Given the description of an element on the screen output the (x, y) to click on. 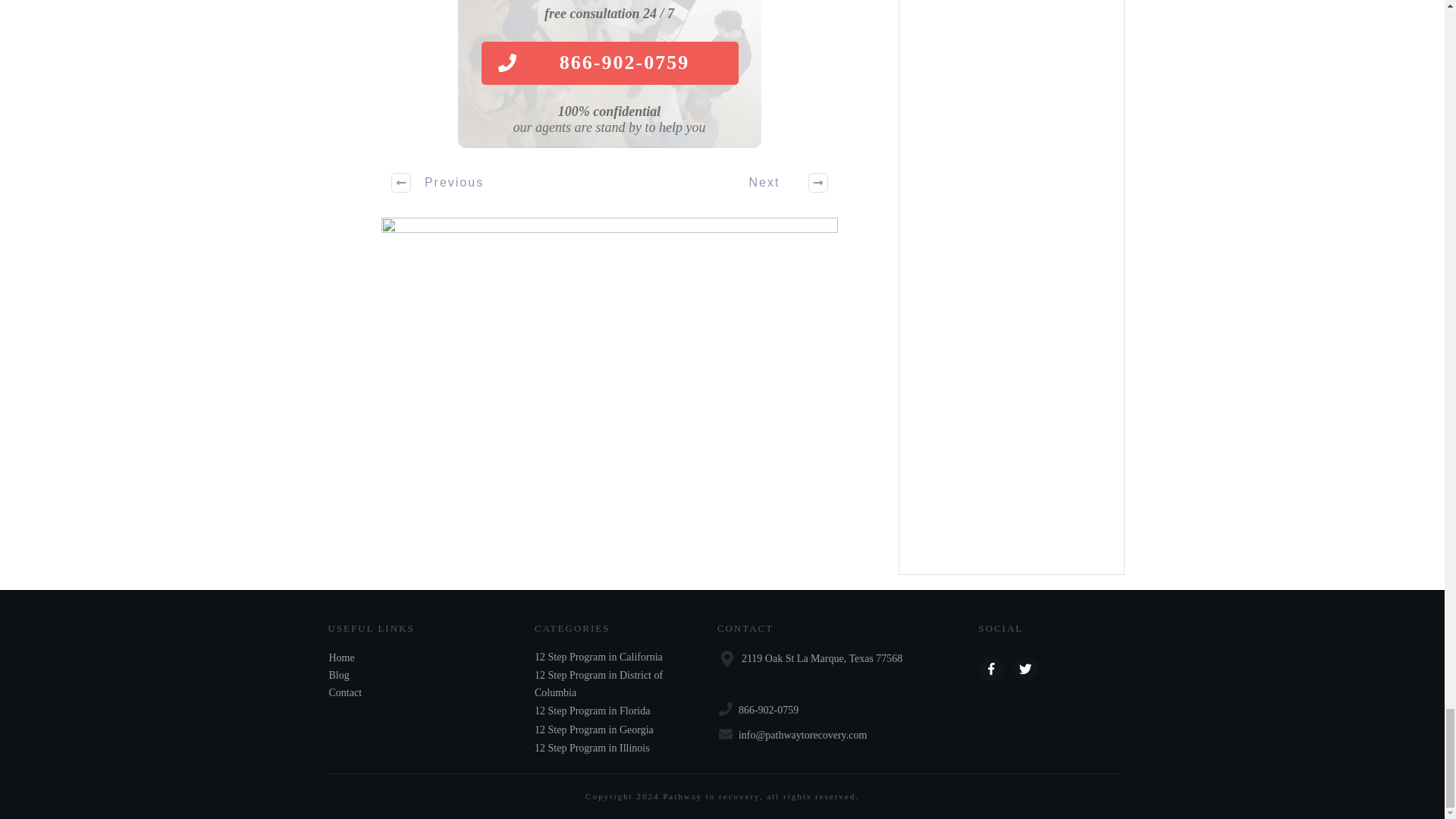
Previous (438, 182)
Next (780, 182)
866-902-0759 (609, 63)
